Given the description of an element on the screen output the (x, y) to click on. 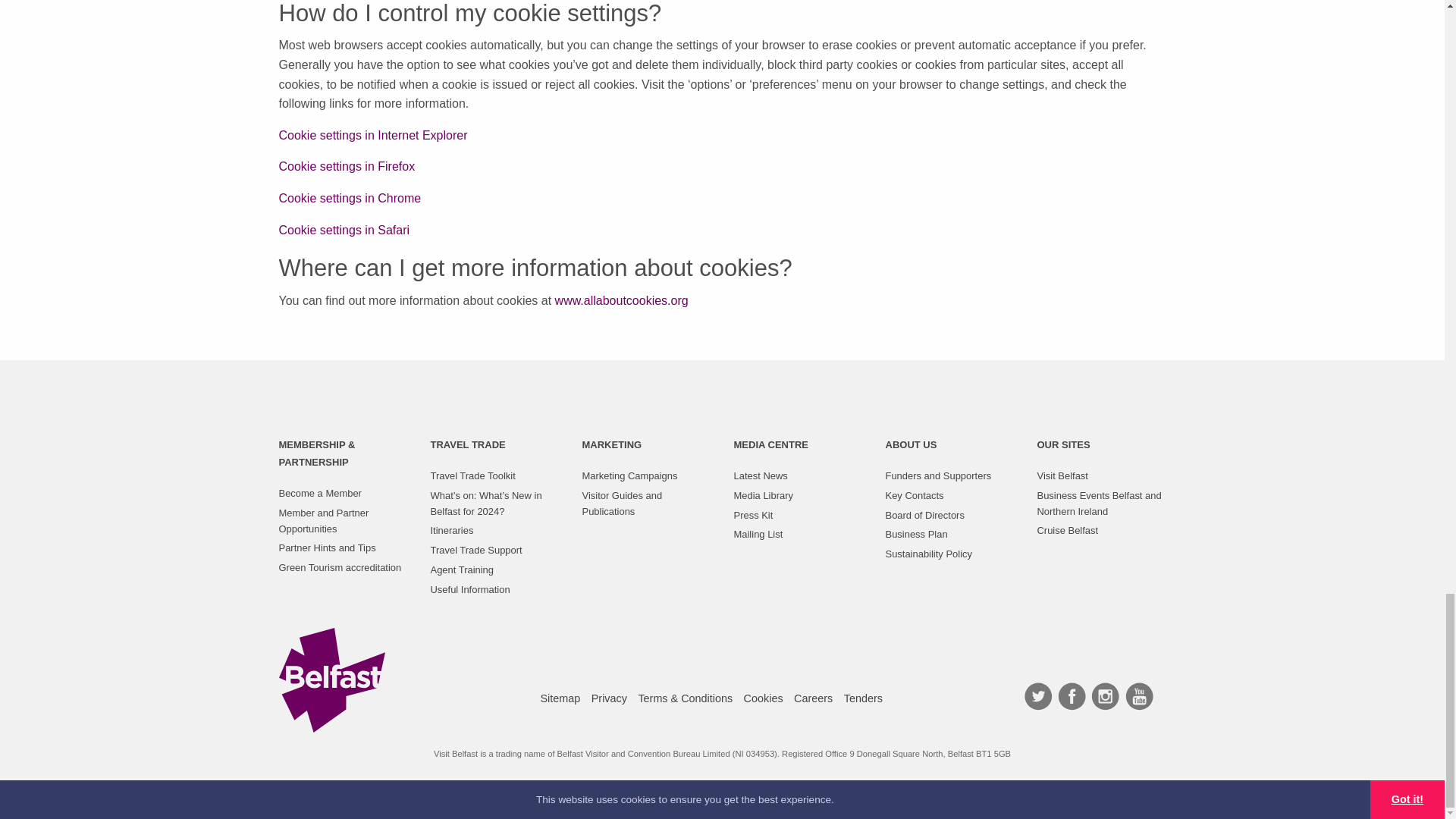
Sitemap (559, 698)
Follow us on Facebook (1072, 695)
Follow us on Instagram (1105, 695)
Tenders (863, 698)
Cookies (763, 698)
About Us (911, 444)
Careers (812, 698)
Follow us on Twitter (1037, 695)
Privacy (609, 698)
Travel Trade (467, 444)
Marketing (612, 444)
Follow us on Youtube (1139, 695)
Media Centre (770, 444)
